Given the description of an element on the screen output the (x, y) to click on. 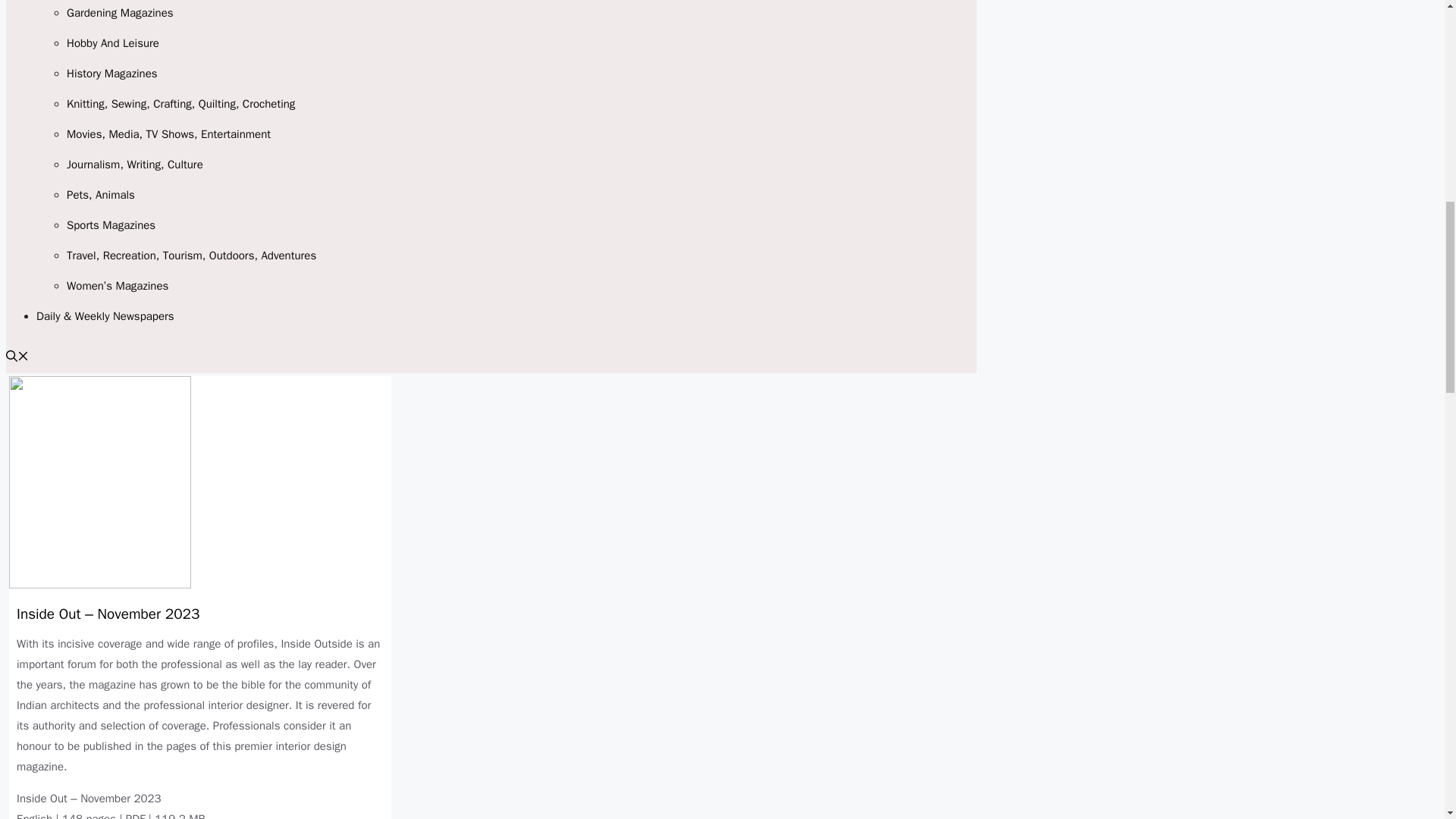
Gardening Magazines (119, 12)
Journalism, Writing, Culture (134, 164)
Travel, Recreation, Tourism, Outdoors, Adventures (190, 255)
Hobby And Leisure (112, 42)
Knitting, Sewing, Crafting, Quilting, Crocheting (180, 103)
History Magazines (111, 73)
Pets, Animals (100, 194)
Sports Magazines (110, 224)
Movies, Media, TV Shows, Entertainment (168, 133)
